Given the description of an element on the screen output the (x, y) to click on. 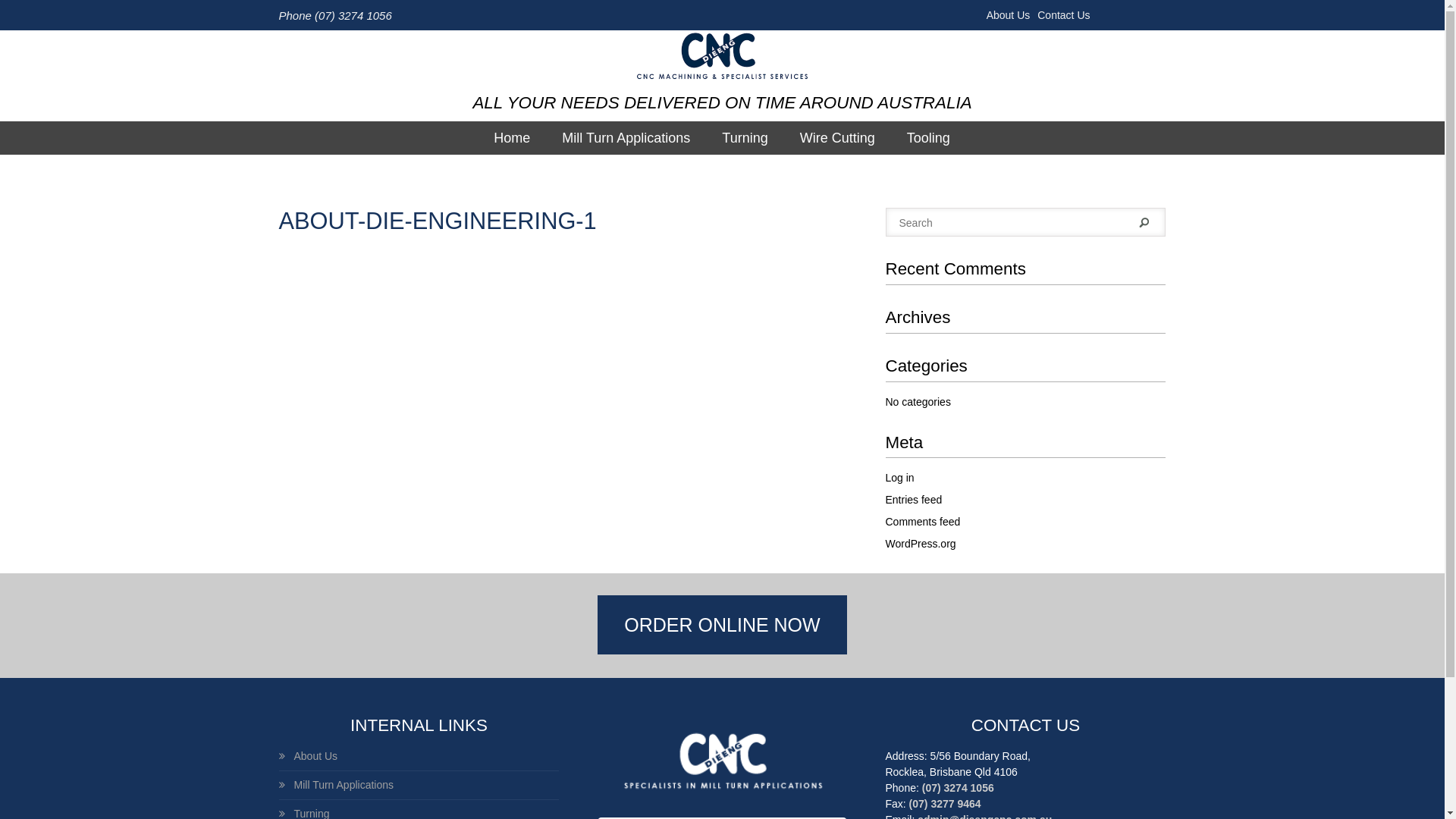
DieEngCnc Pty Ltd Element type: hover (722, 57)
Entries feed Element type: text (913, 499)
About Us Element type: text (1012, 15)
Tooling Element type: text (928, 137)
Mill Turn Applications Element type: text (336, 785)
Log in Element type: text (899, 477)
(07) 3277 9464 Element type: text (945, 803)
Mill Turn Applications Element type: text (625, 137)
Search Element type: text (1144, 222)
Contact Us Element type: text (1063, 15)
About Us Element type: text (308, 756)
Home Element type: text (511, 137)
Turning Element type: text (744, 137)
Phone (07) 3274 1056 Element type: text (335, 15)
Comments feed Element type: text (922, 521)
ORDER ONLINE NOW Element type: text (721, 624)
(07) 3274 1056 Element type: text (958, 787)
Wire Cutting Element type: text (837, 137)
WordPress.org Element type: text (920, 543)
